Given the description of an element on the screen output the (x, y) to click on. 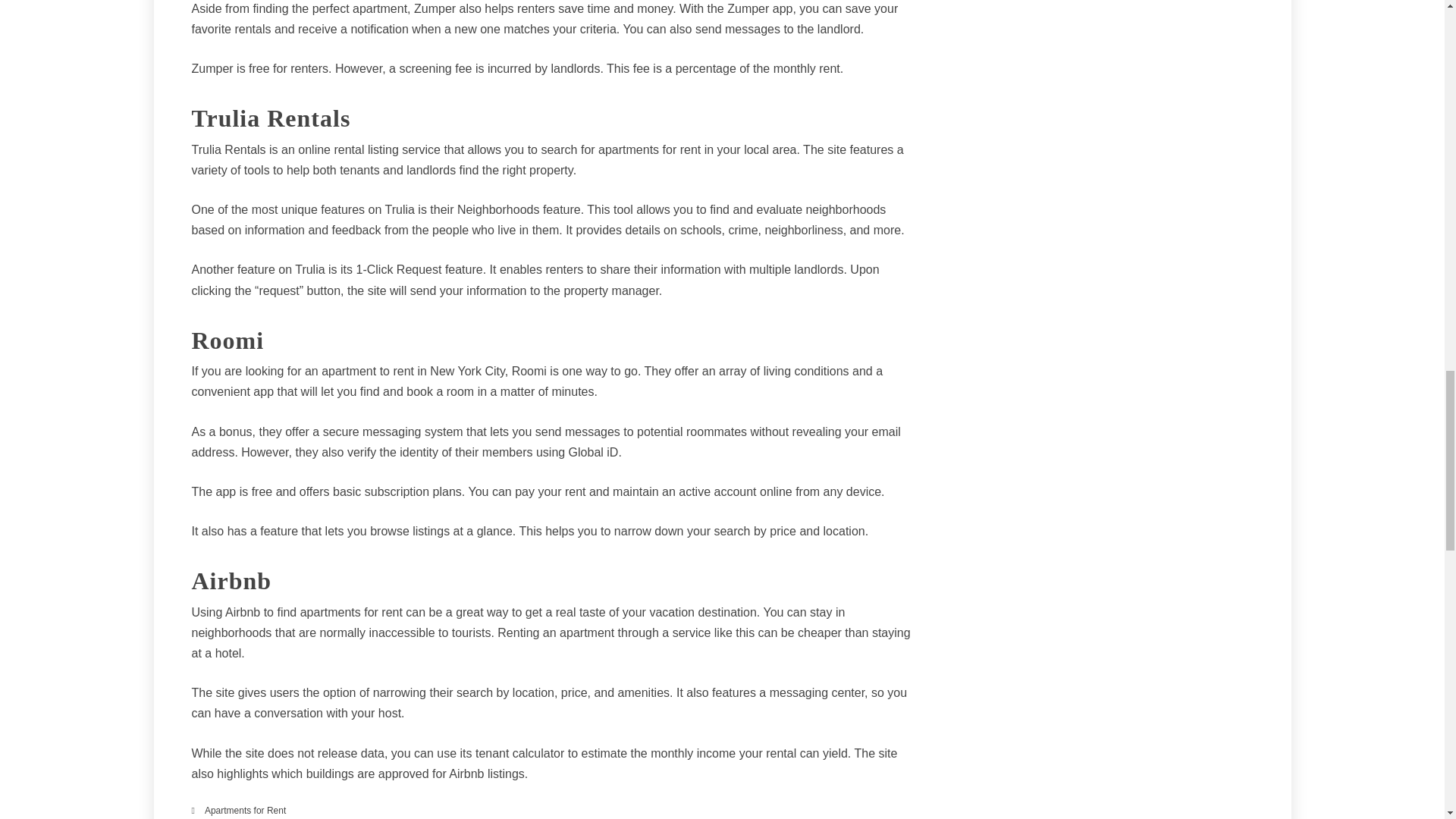
Apartments for Rent (245, 810)
